Given the description of an element on the screen output the (x, y) to click on. 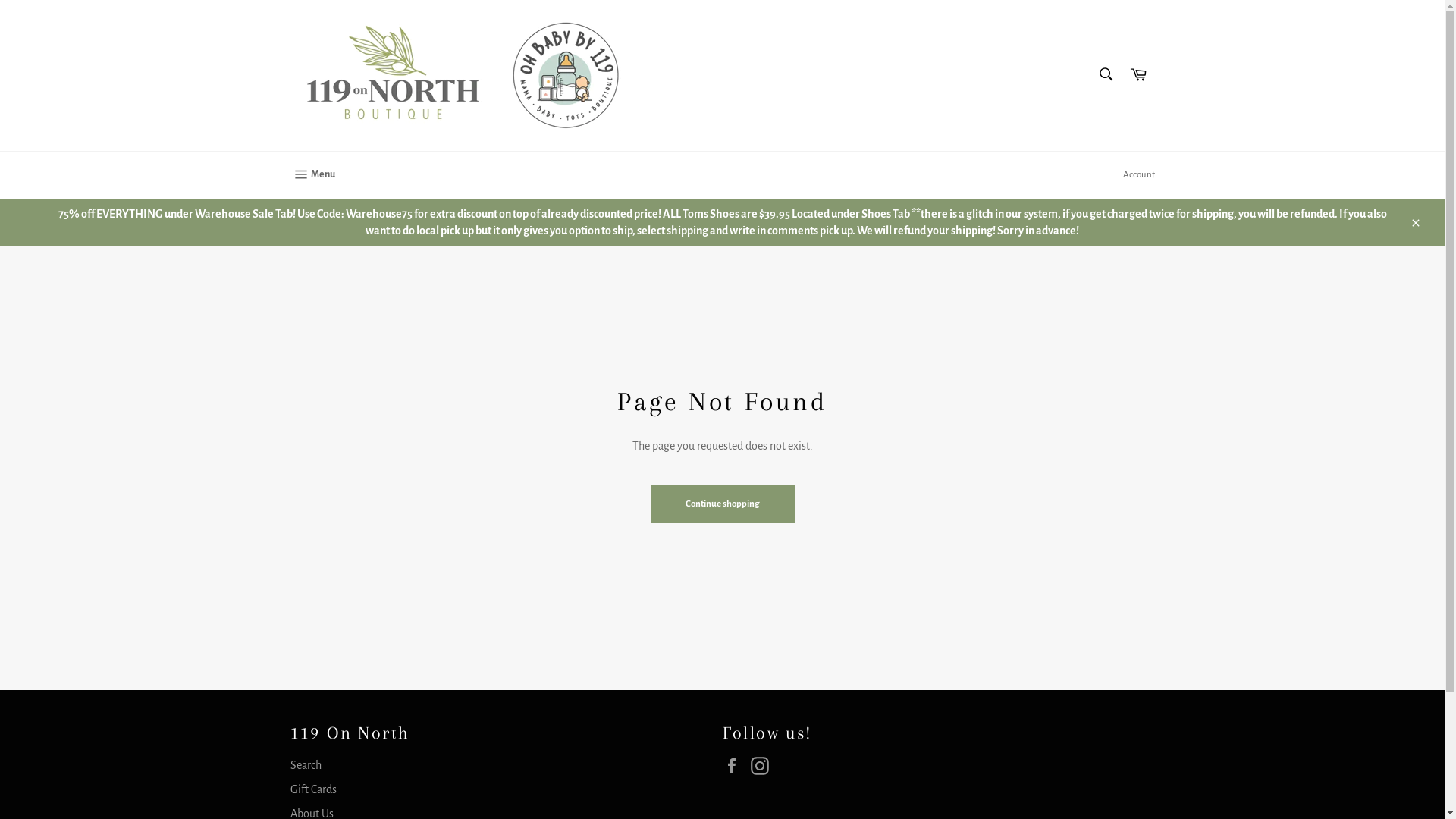
Close Element type: text (1414, 221)
Facebook Element type: text (734, 765)
Menu
Site navigation Element type: text (311, 174)
Search Element type: text (1105, 74)
Instagram Element type: text (763, 765)
Account Element type: text (1137, 175)
Cart Element type: text (1138, 75)
Continue shopping Element type: text (722, 504)
Gift Cards Element type: text (312, 789)
Search Element type: text (304, 765)
